Given the description of an element on the screen output the (x, y) to click on. 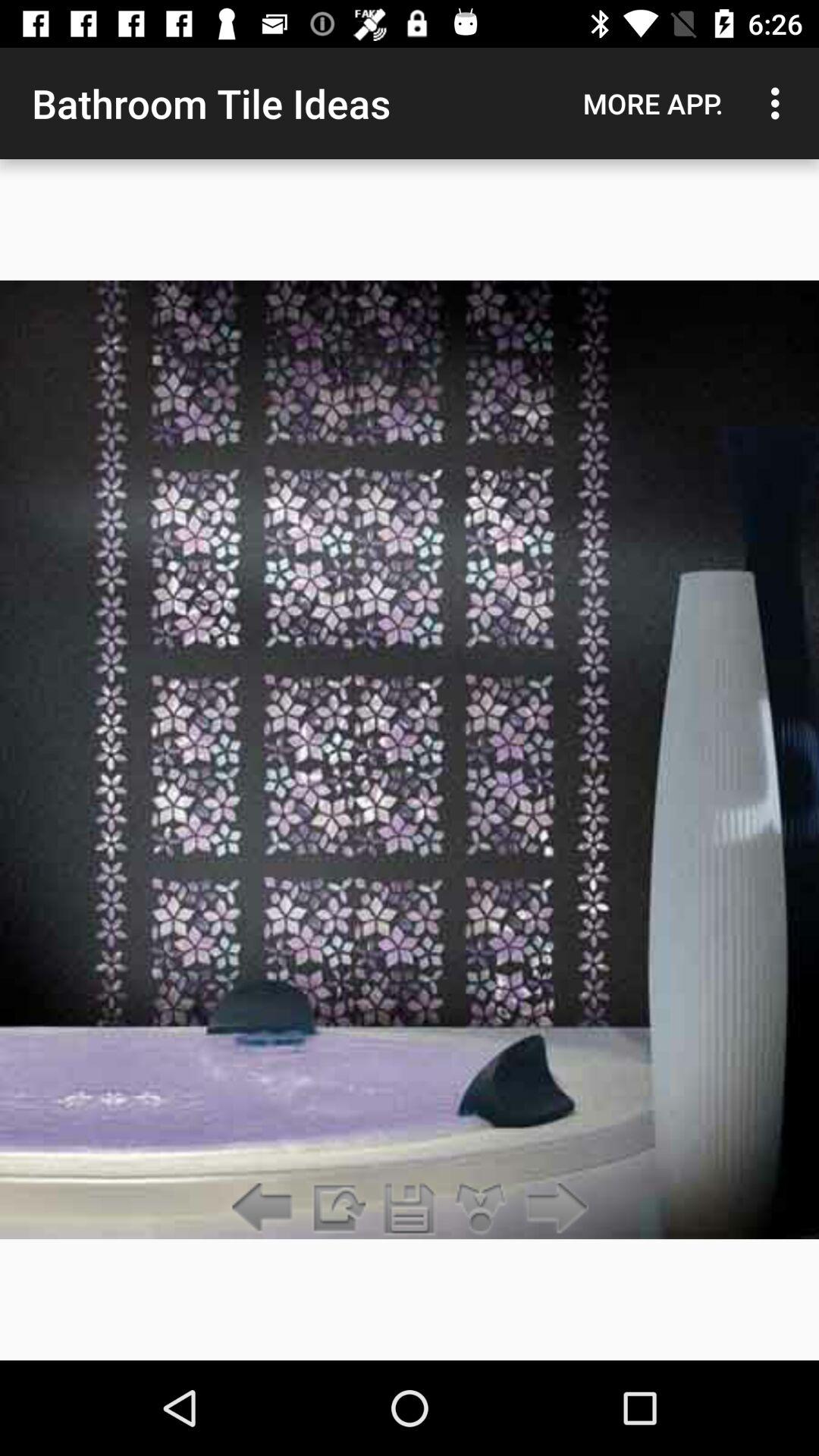
share picture (480, 1208)
